Given the description of an element on the screen output the (x, y) to click on. 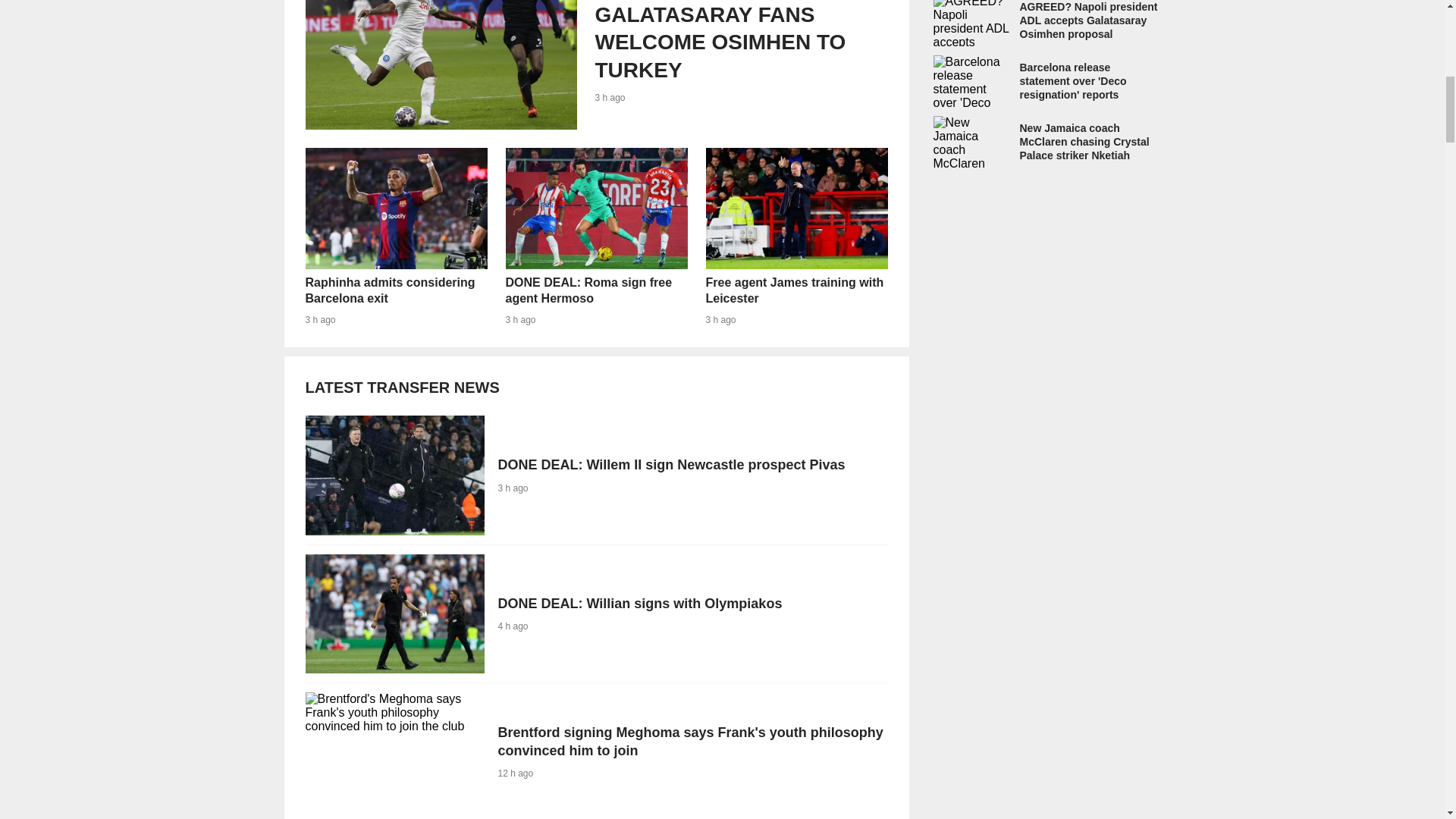
Raphinha admits considering Barcelona exit (595, 613)
DONE DEAL: Roma sign free agent Hermoso (795, 237)
DONE DEAL: Willem II sign Newcastle prospect Pivas (395, 237)
DONE DEAL: Roma sign free agent Hermoso (395, 237)
